Given the description of an element on the screen output the (x, y) to click on. 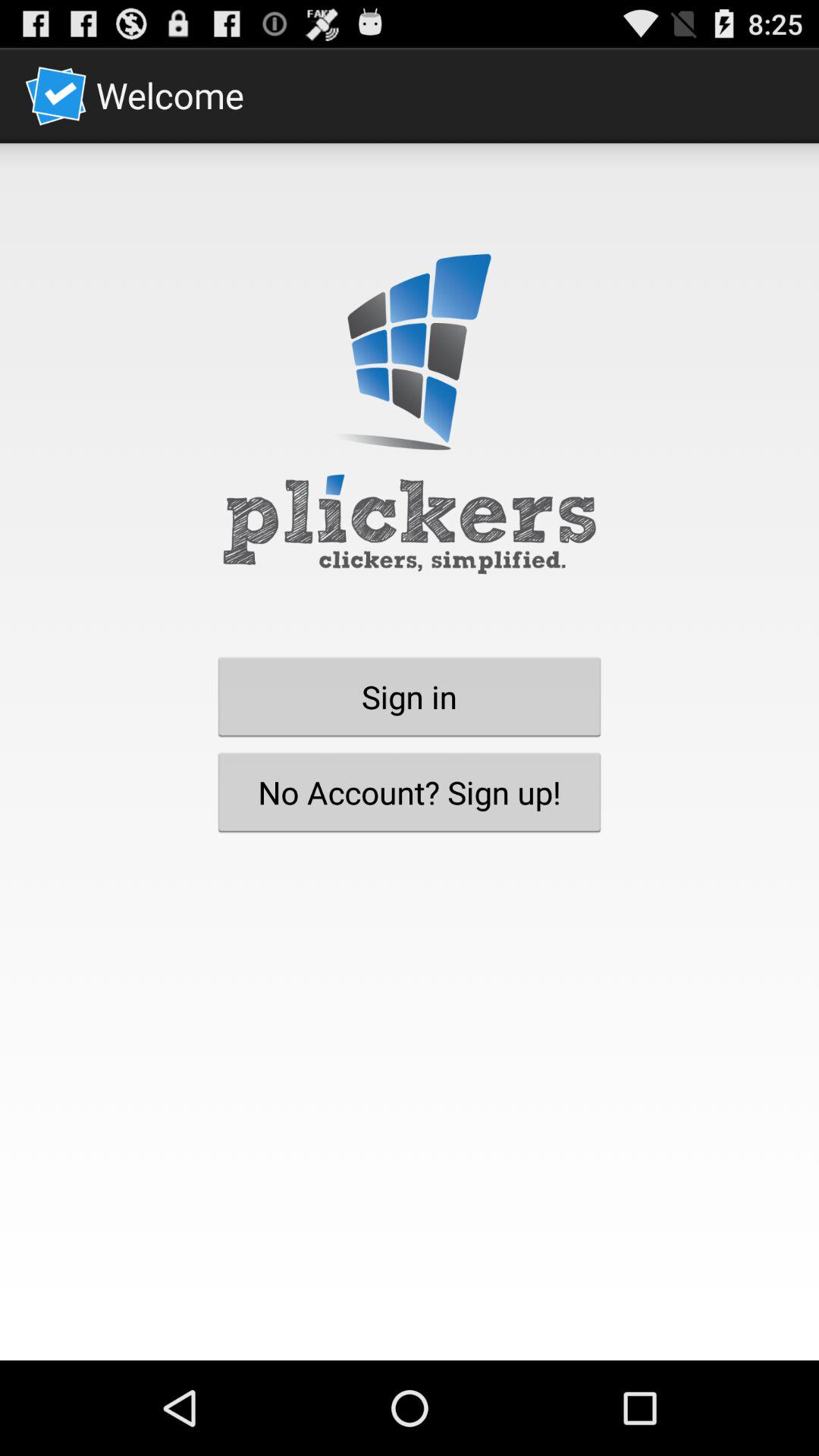
flip until the no account sign (409, 792)
